Given the description of an element on the screen output the (x, y) to click on. 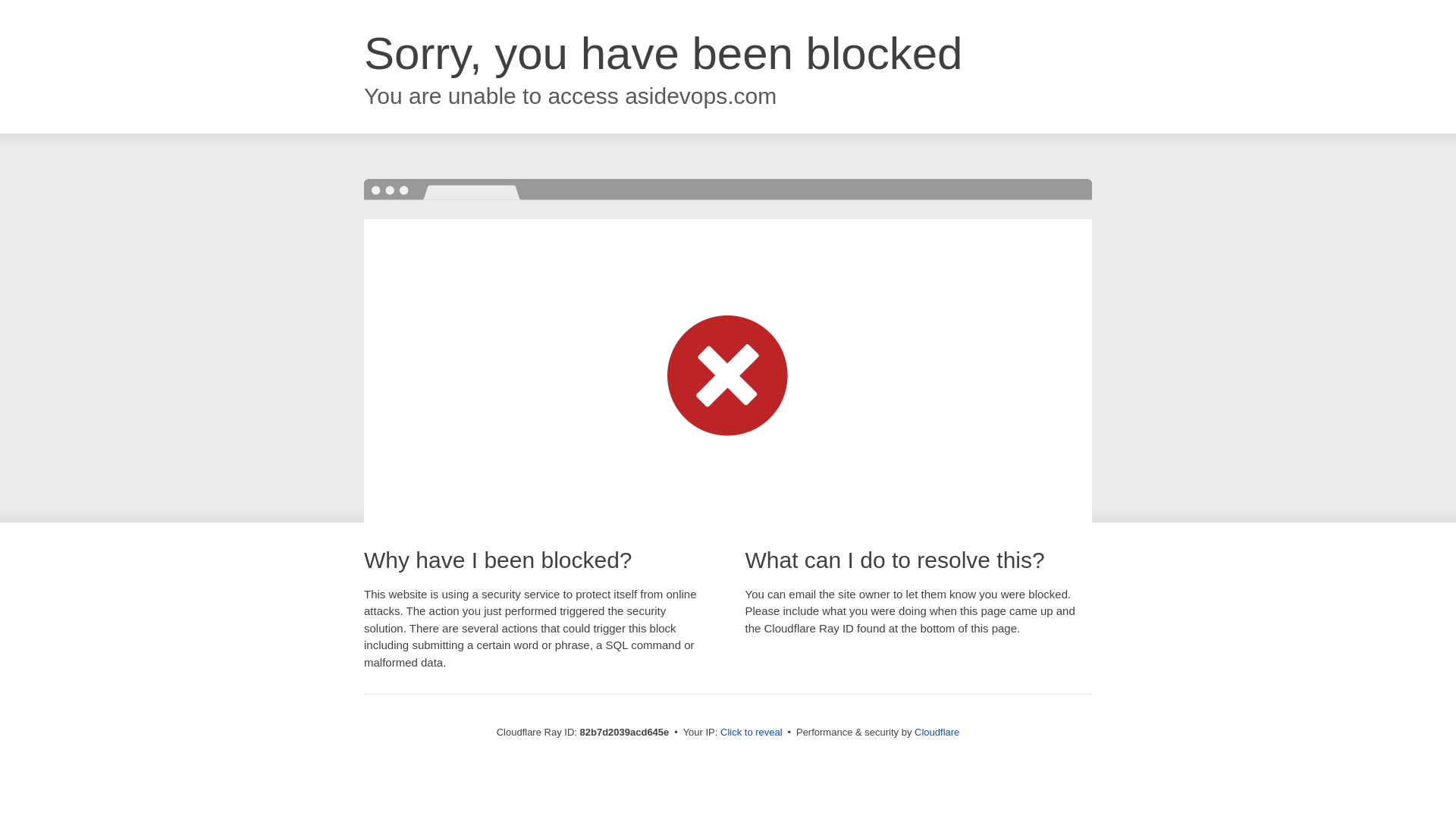
Click to reveal Element type: text (751, 732)
Cloudflare Element type: text (936, 731)
